Given the description of an element on the screen output the (x, y) to click on. 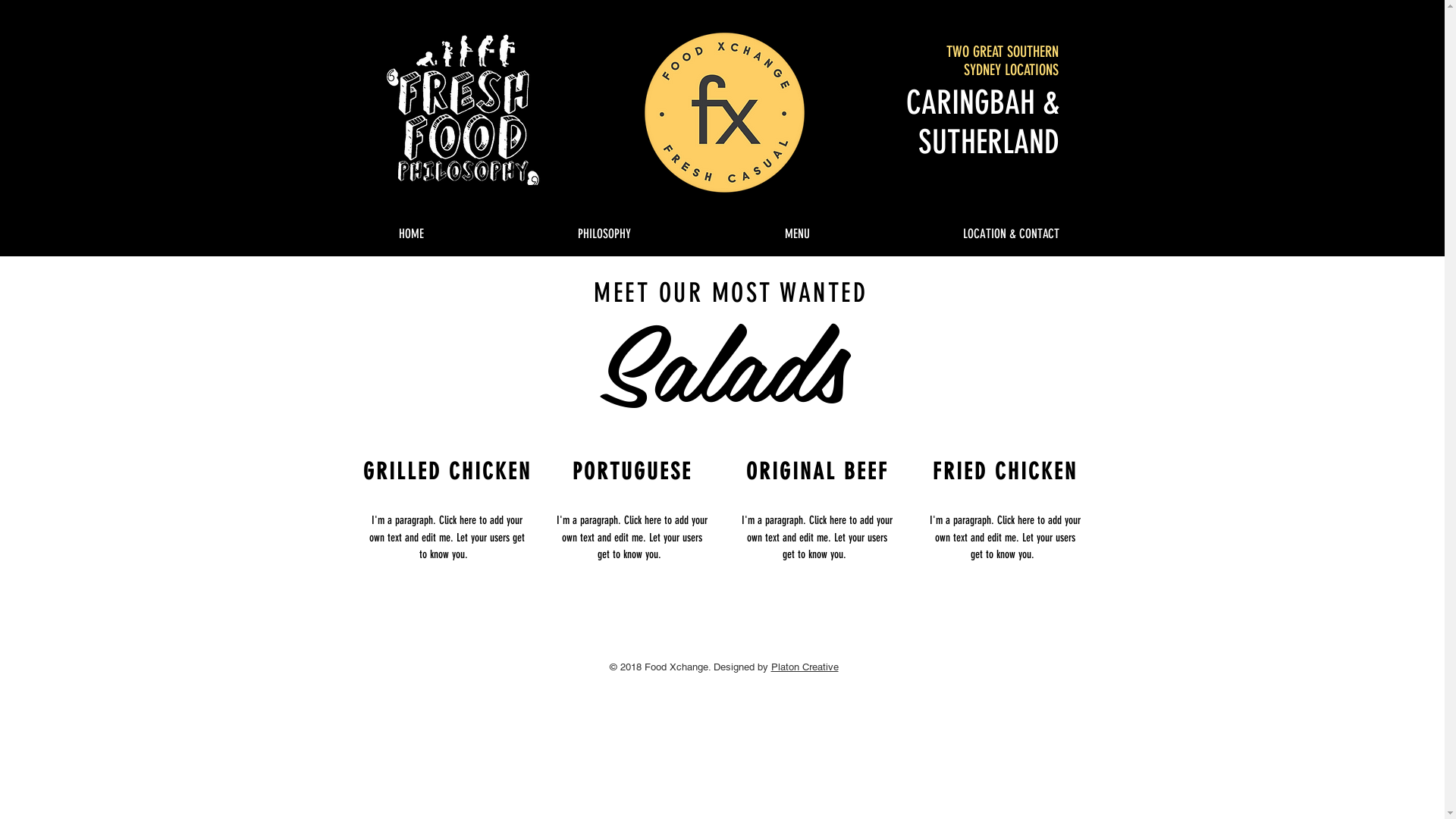
PHILOSOPHY Element type: text (603, 226)
MENU Element type: text (797, 226)
Platon Creative Element type: text (803, 666)
HOME Element type: text (410, 226)
LOCATION & CONTACT Element type: text (1010, 226)
